Given the description of an element on the screen output the (x, y) to click on. 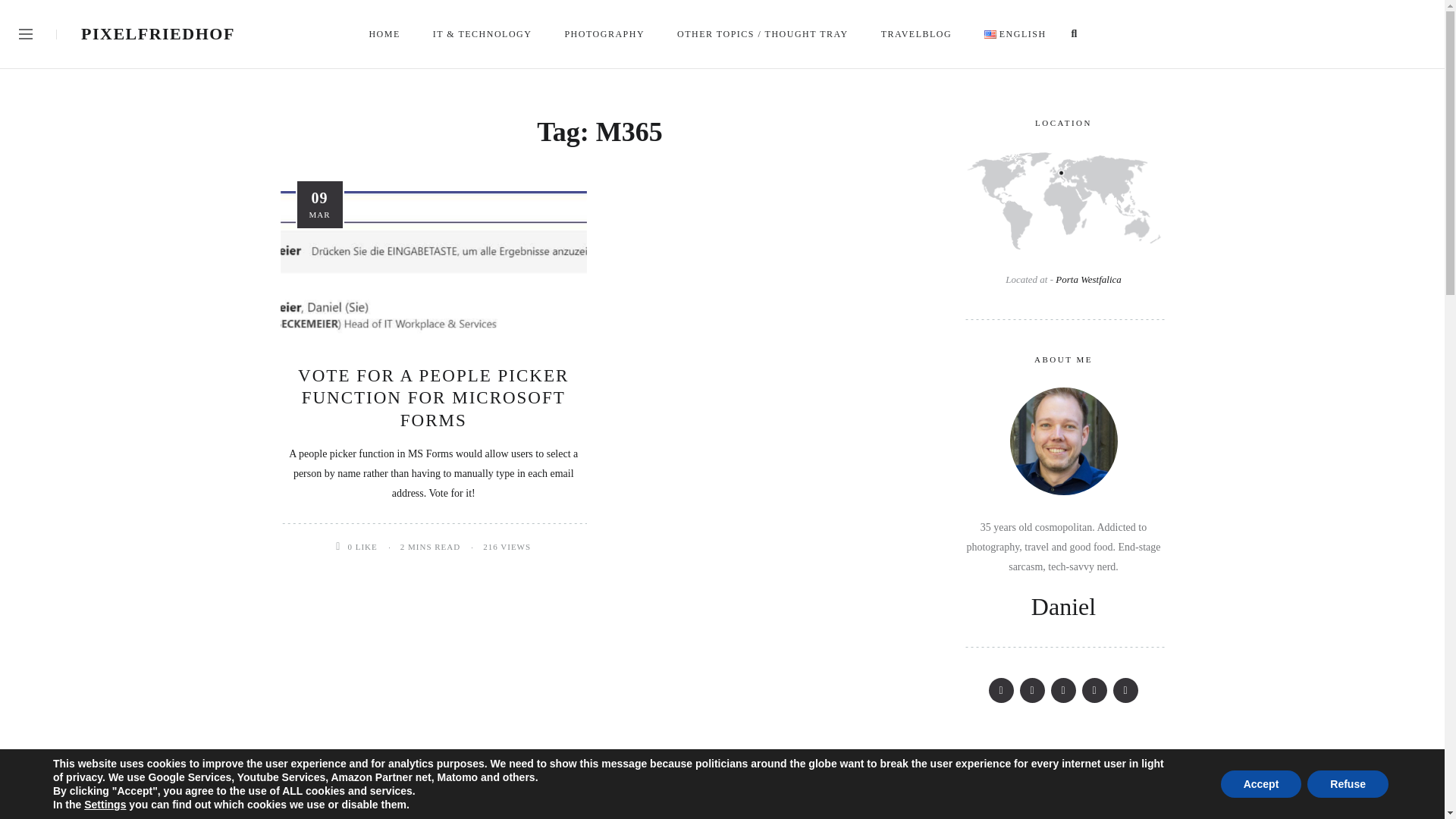
Spotify (1093, 690)
TRAVELBLOG (917, 34)
PIXELFRIEDHOF (157, 33)
I like this (341, 546)
ENGLISH (1015, 34)
HOME (384, 34)
PayPal (1125, 690)
Twitter (1000, 690)
PHOTOGRAPHY (605, 34)
Pinterest (1032, 690)
Instagram (1063, 690)
Advertisement (1063, 780)
